Given the description of an element on the screen output the (x, y) to click on. 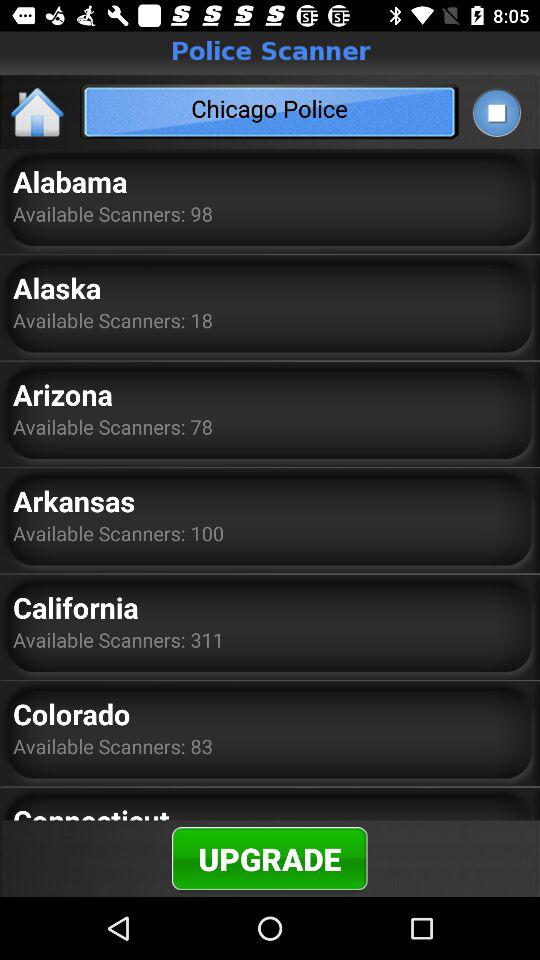
turn on the icon next to the chicago police app (38, 111)
